Given the description of an element on the screen output the (x, y) to click on. 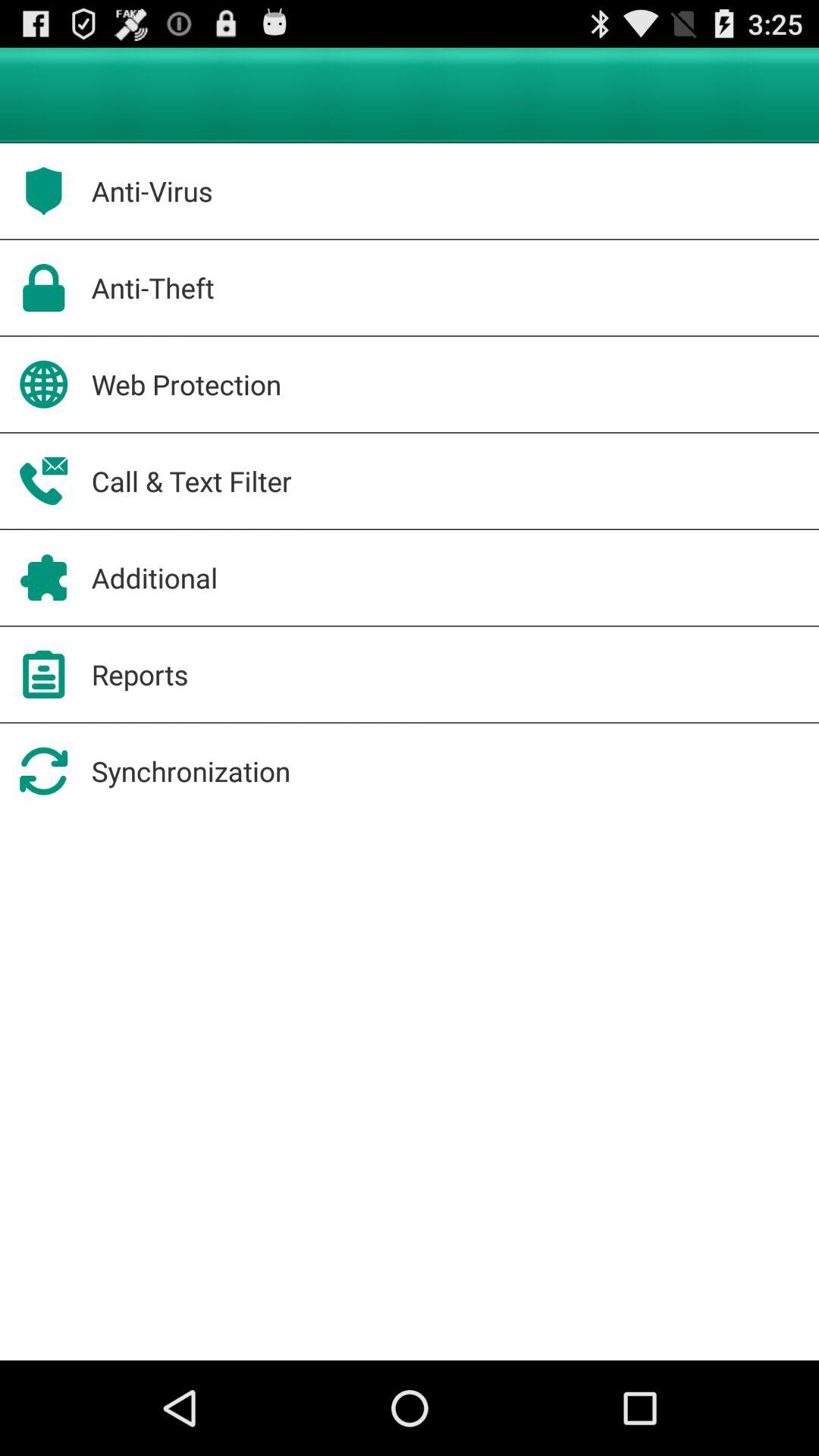
turn on the call & text filter app (191, 480)
